Given the description of an element on the screen output the (x, y) to click on. 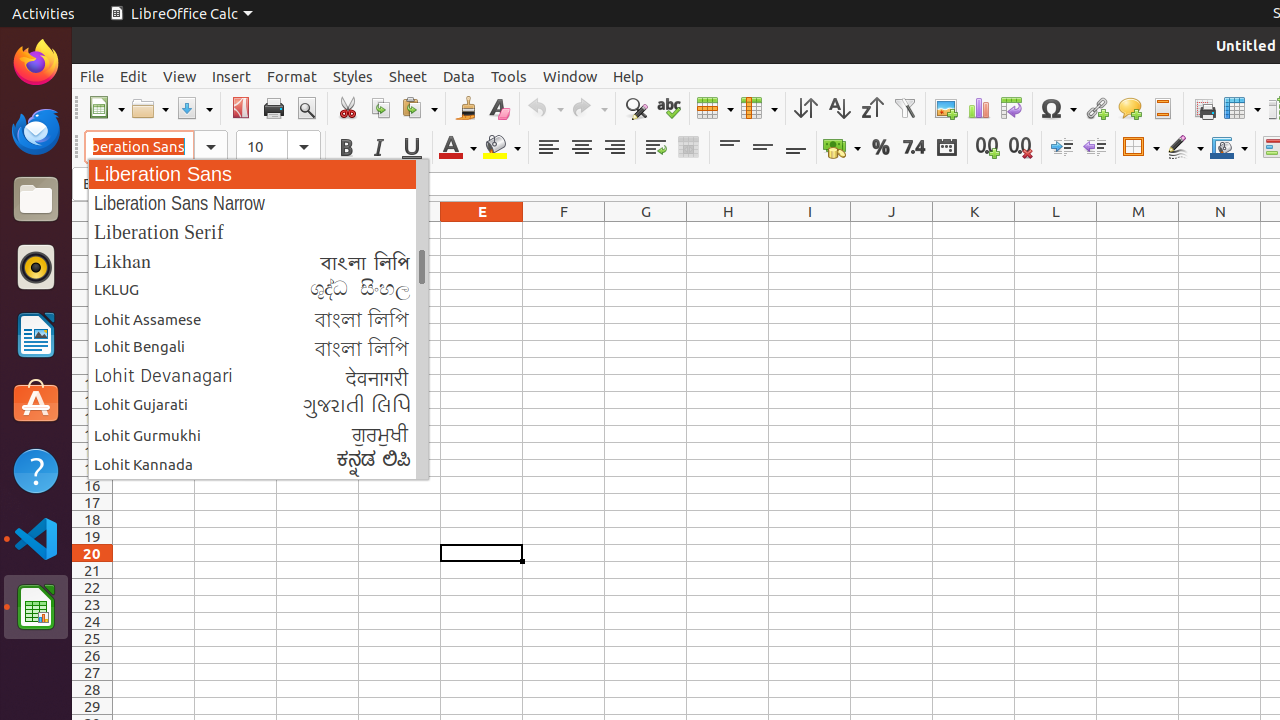
Data Element type: menu (459, 76)
Lohit Kannada Element type: list-item (258, 463)
Sort Descending Element type: push-button (871, 108)
Copy Element type: push-button (380, 108)
Symbol Element type: push-button (1058, 108)
